Given the description of an element on the screen output the (x, y) to click on. 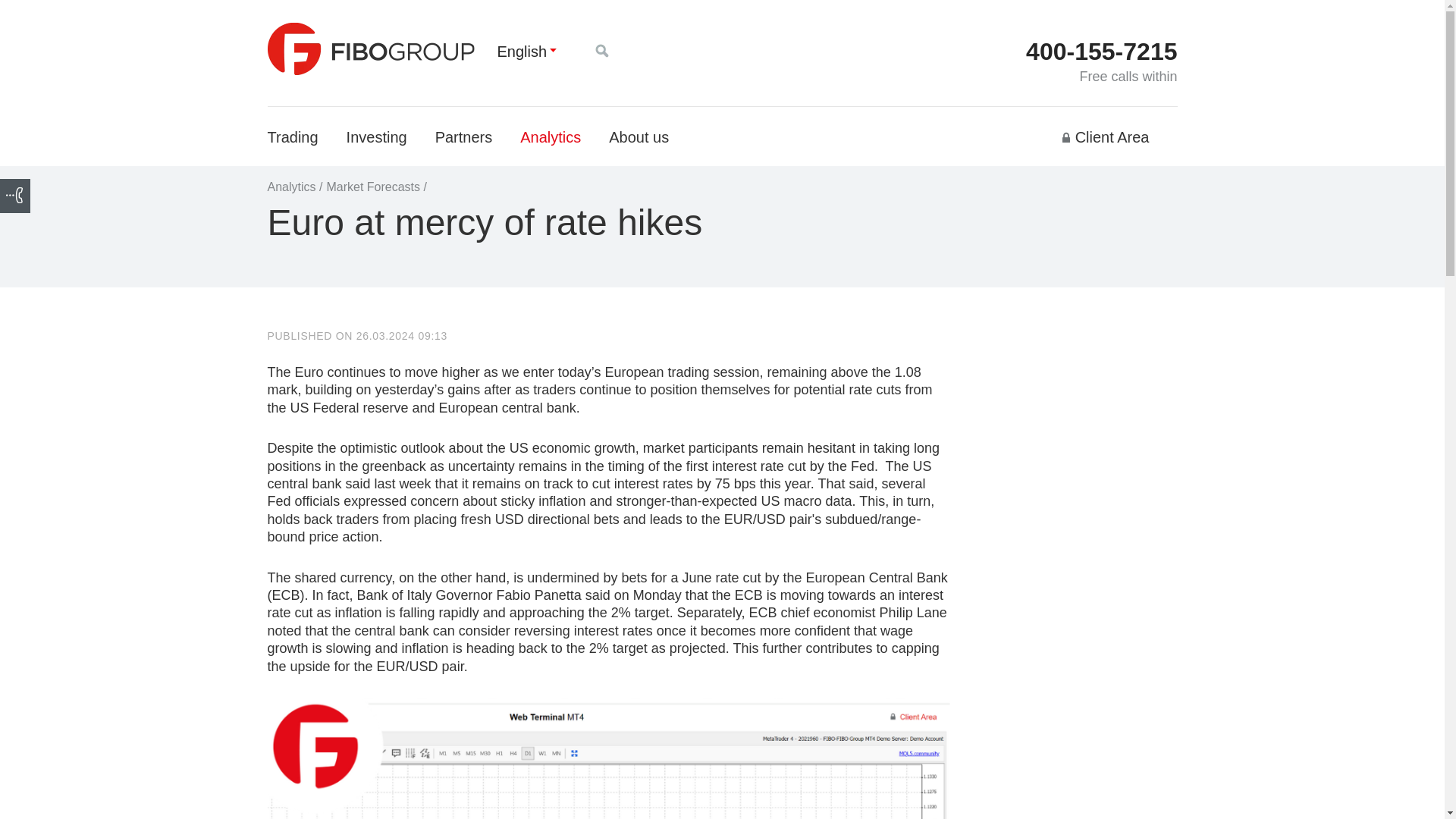
400-155-7215 (1101, 51)
Fibo Group (370, 49)
English (522, 51)
Trading (291, 136)
Investing (376, 136)
